Given the description of an element on the screen output the (x, y) to click on. 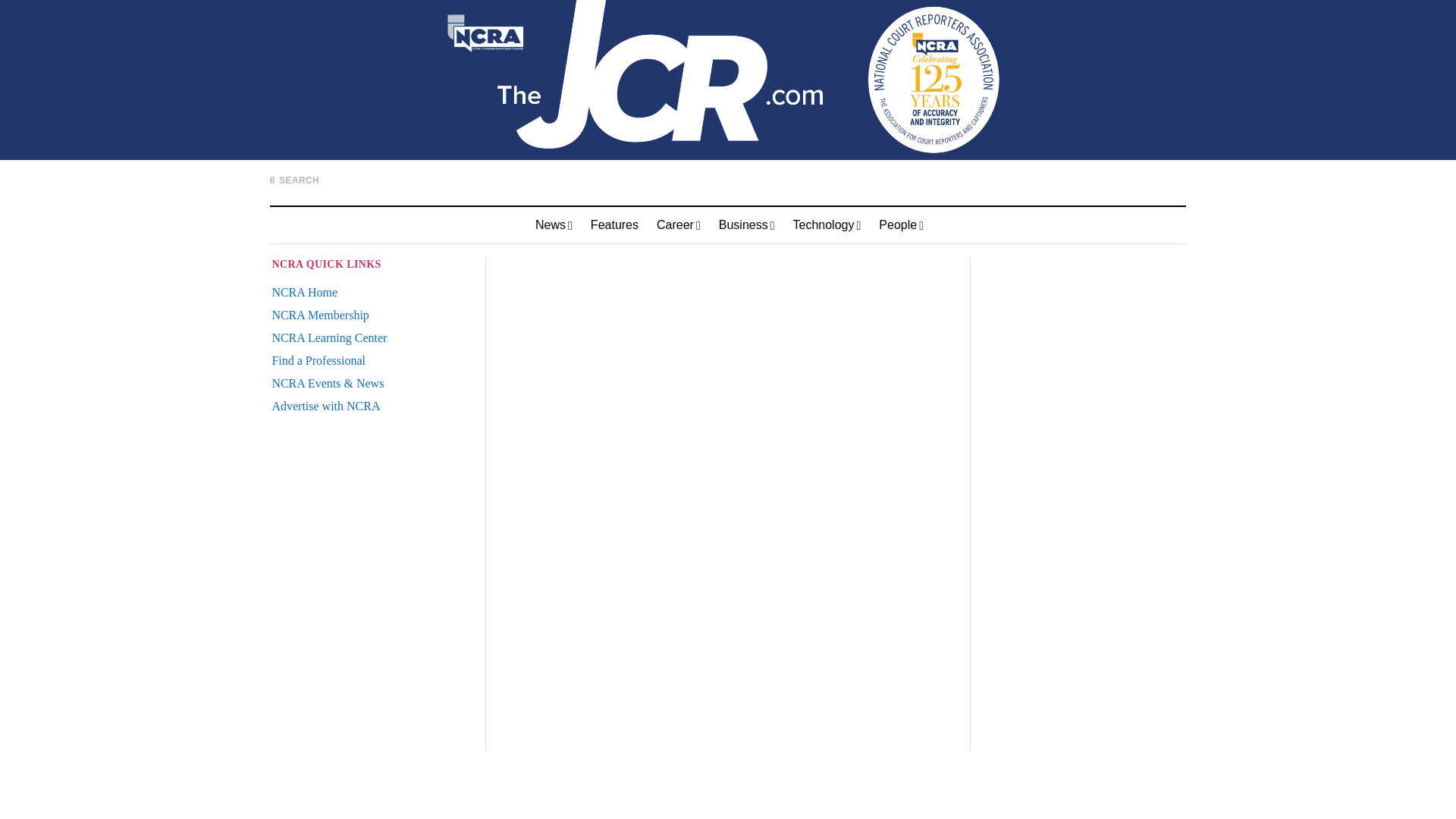
News (552, 225)
Career (678, 225)
Technology (827, 225)
Features (613, 225)
Search (948, 149)
SEARCH (294, 180)
Business (747, 225)
